Given the description of an element on the screen output the (x, y) to click on. 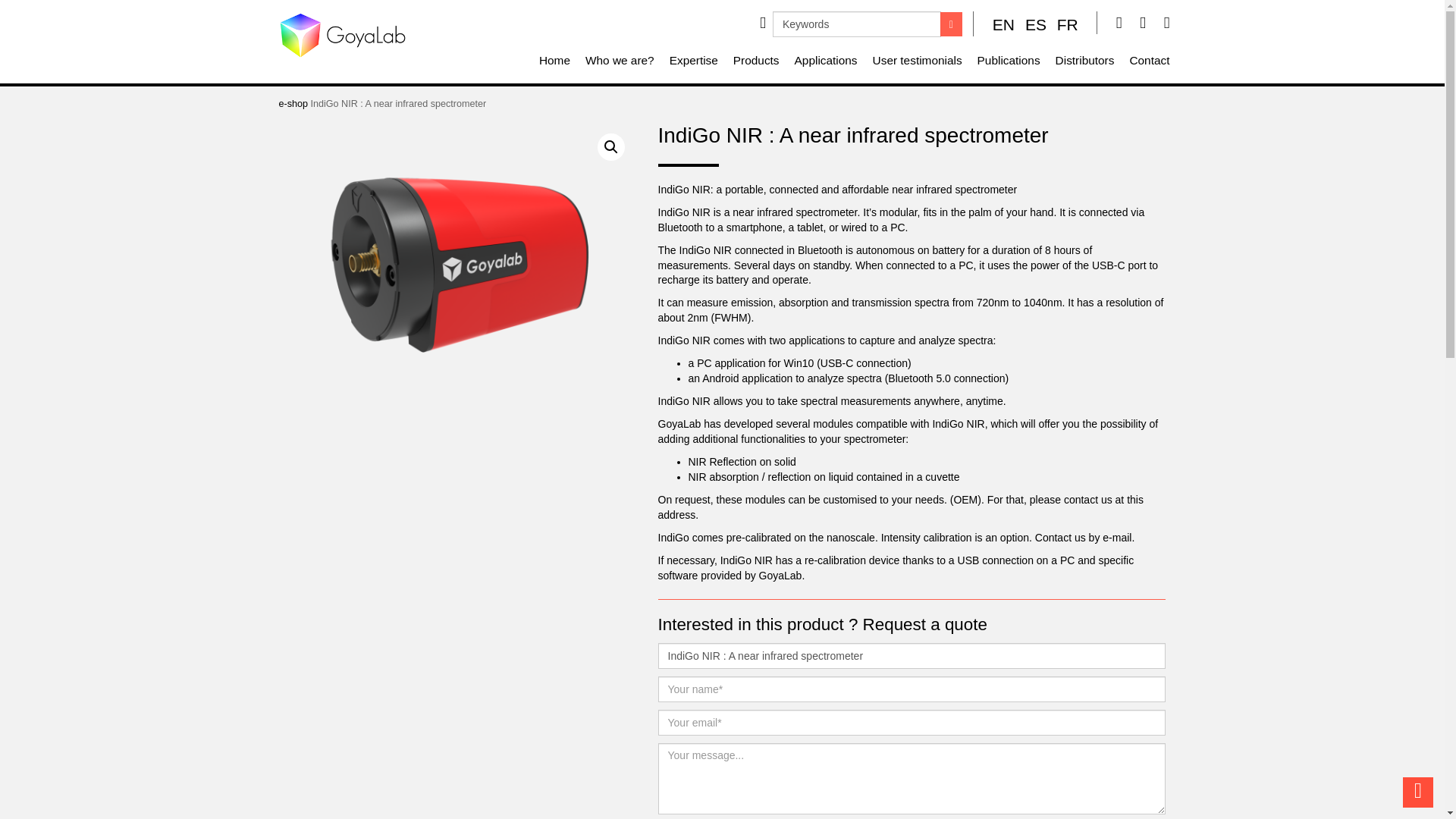
IndiGo NIR proche infrarouge 700nm - 1100nm (456, 267)
Goyalab (343, 34)
Applications (825, 62)
EN (1003, 24)
Home (554, 62)
Publications (1008, 62)
Products (756, 62)
Who we are? (620, 62)
FR (1067, 24)
User testimonials (916, 62)
Retour en haut du site (1417, 792)
IndiGo NIR : A near infrared spectrometer (912, 655)
Keywords (856, 23)
Expertise (693, 62)
ES (1035, 24)
